Given the description of an element on the screen output the (x, y) to click on. 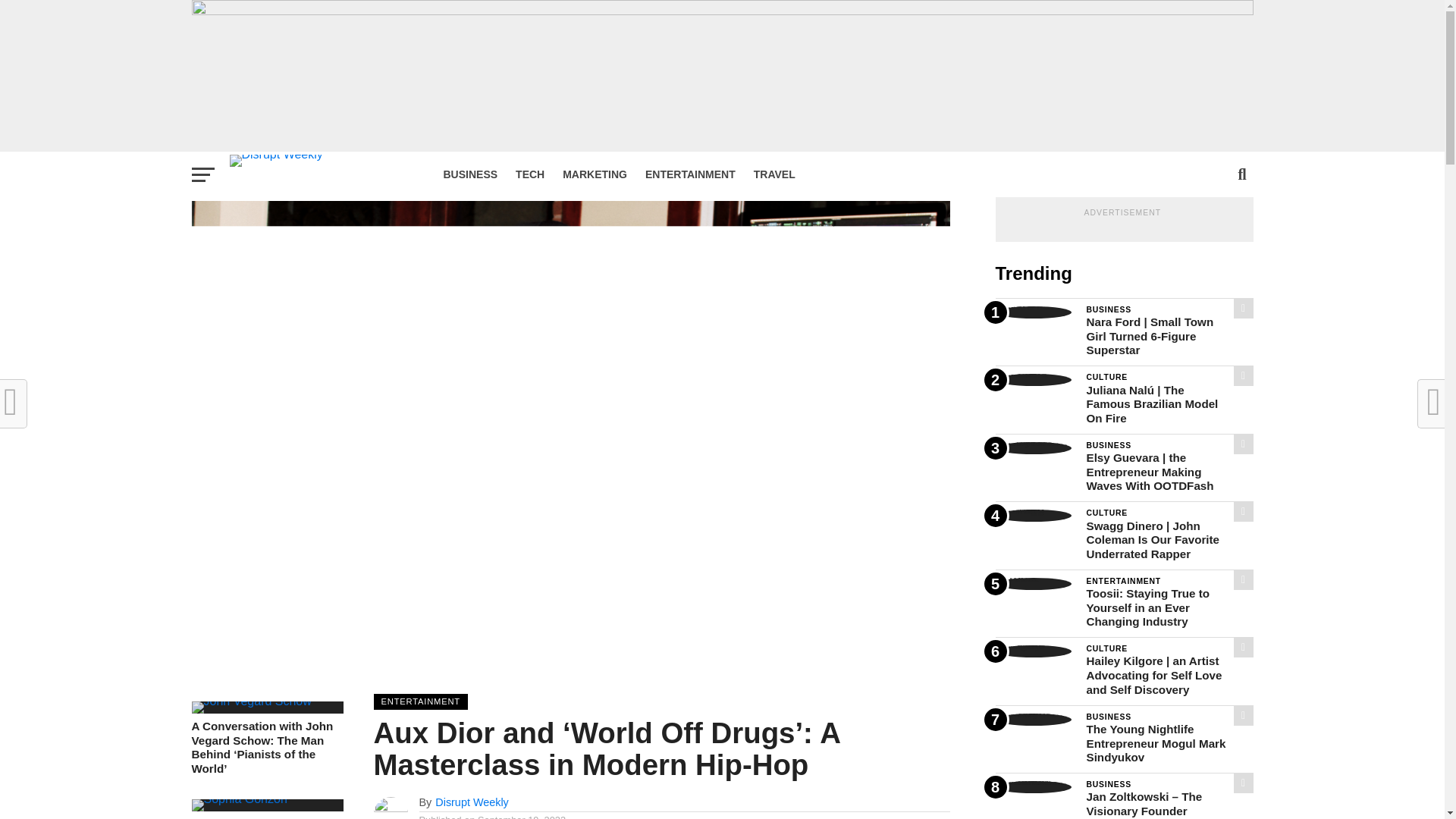
ENTERTAINMENT (690, 174)
Disrupt Weekly (471, 802)
TECH (529, 174)
TRAVEL (774, 174)
BUSINESS (469, 174)
Posts by Disrupt Weekly (471, 802)
MARKETING (594, 174)
